Given the description of an element on the screen output the (x, y) to click on. 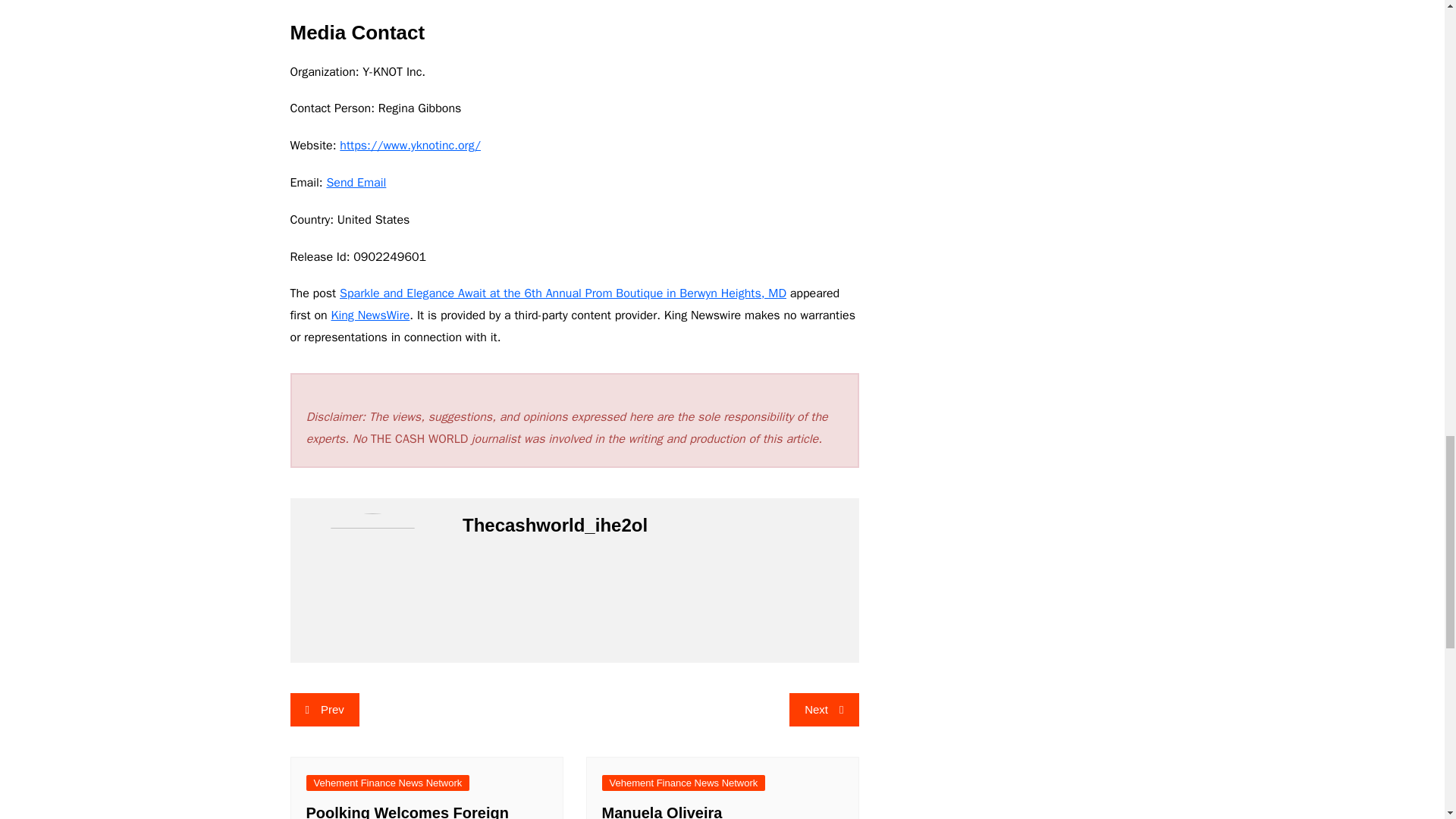
Prev (323, 709)
Vehement Finance News Network (683, 782)
Vehement Finance News Network (387, 782)
Next (824, 709)
King NewsWire (369, 314)
Poolking Welcomes Foreign Customers to Its Facilities (406, 811)
Send Email (355, 182)
